Given the description of an element on the screen output the (x, y) to click on. 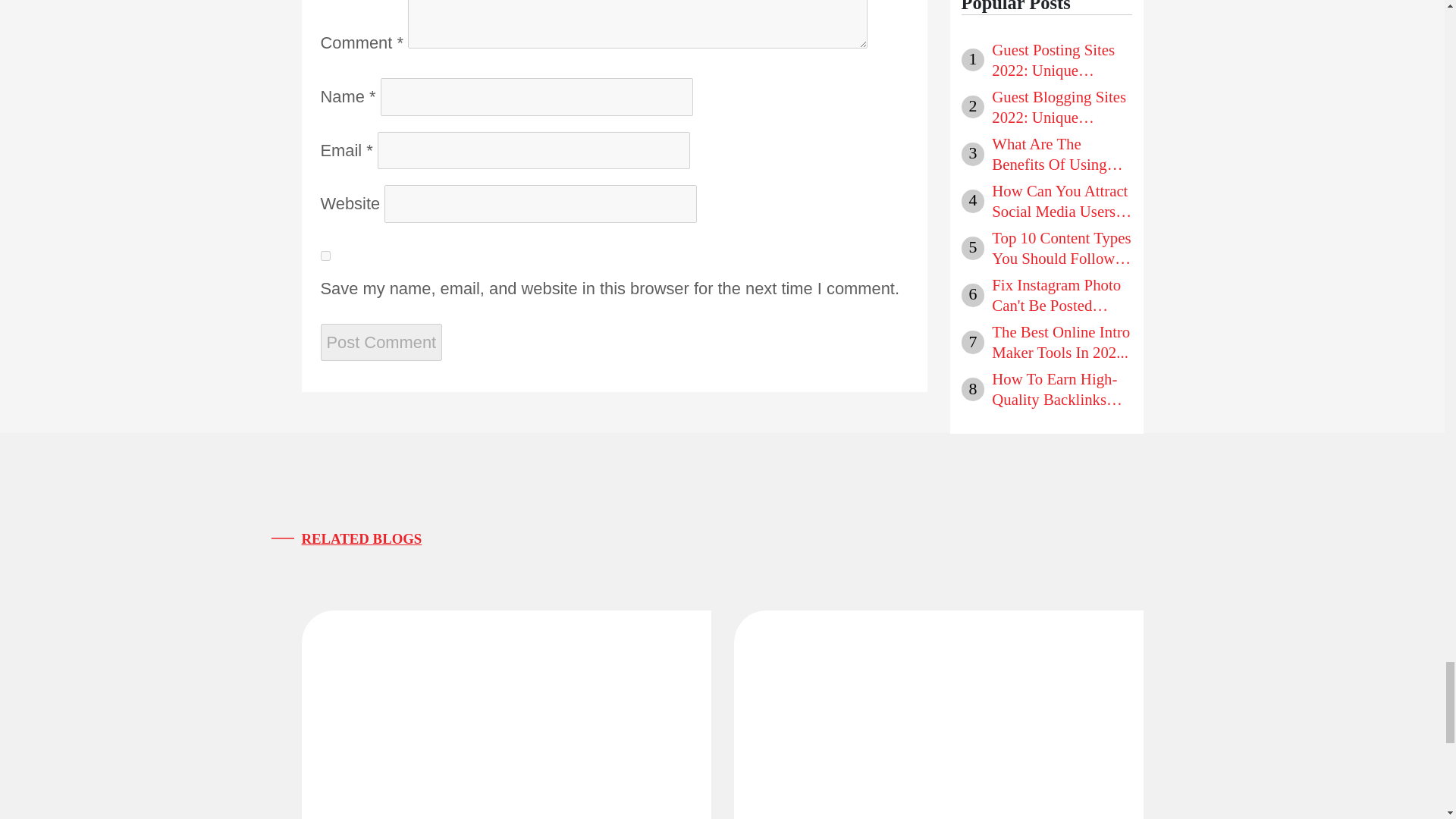
Post Comment (381, 342)
yes (325, 255)
Post Comment (381, 342)
